Given the description of an element on the screen output the (x, y) to click on. 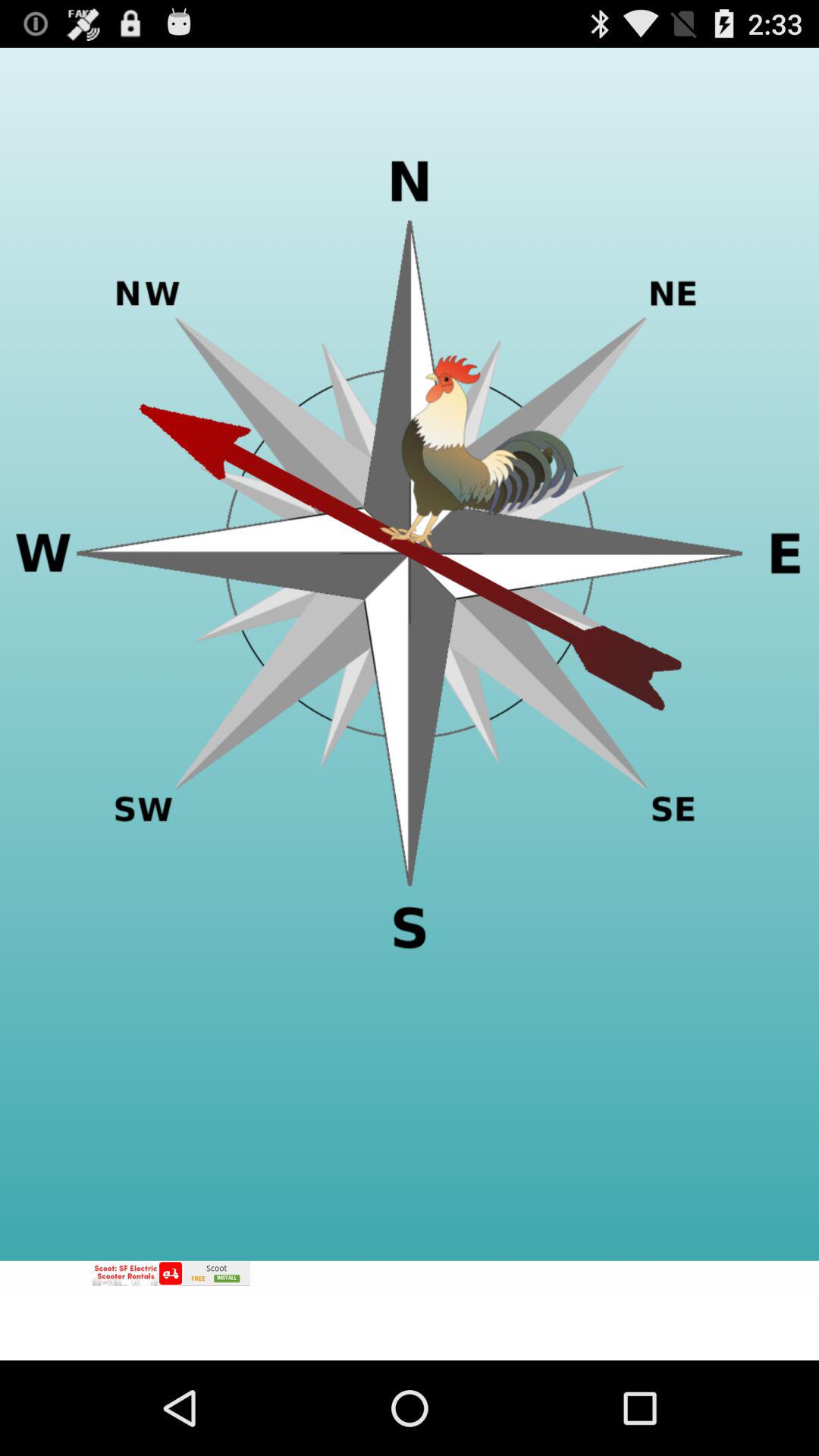
adv link (409, 1310)
